Given the description of an element on the screen output the (x, y) to click on. 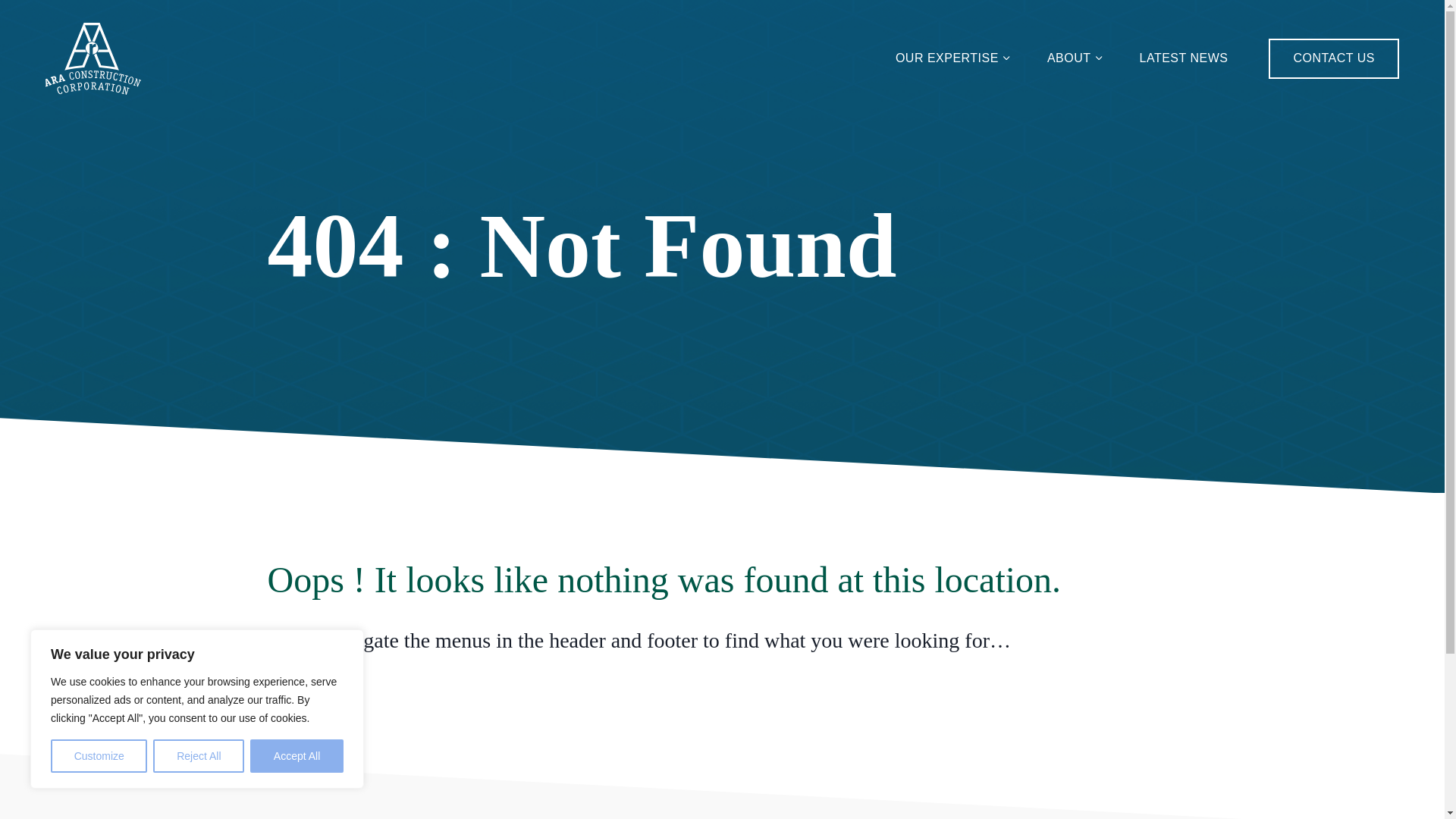
Reject All (198, 756)
Customize (98, 756)
CONTACT US (1333, 58)
ABOUT (1075, 58)
OUR EXPERTISE (953, 58)
Accept All (296, 756)
LATEST NEWS (1183, 58)
